Given the description of an element on the screen output the (x, y) to click on. 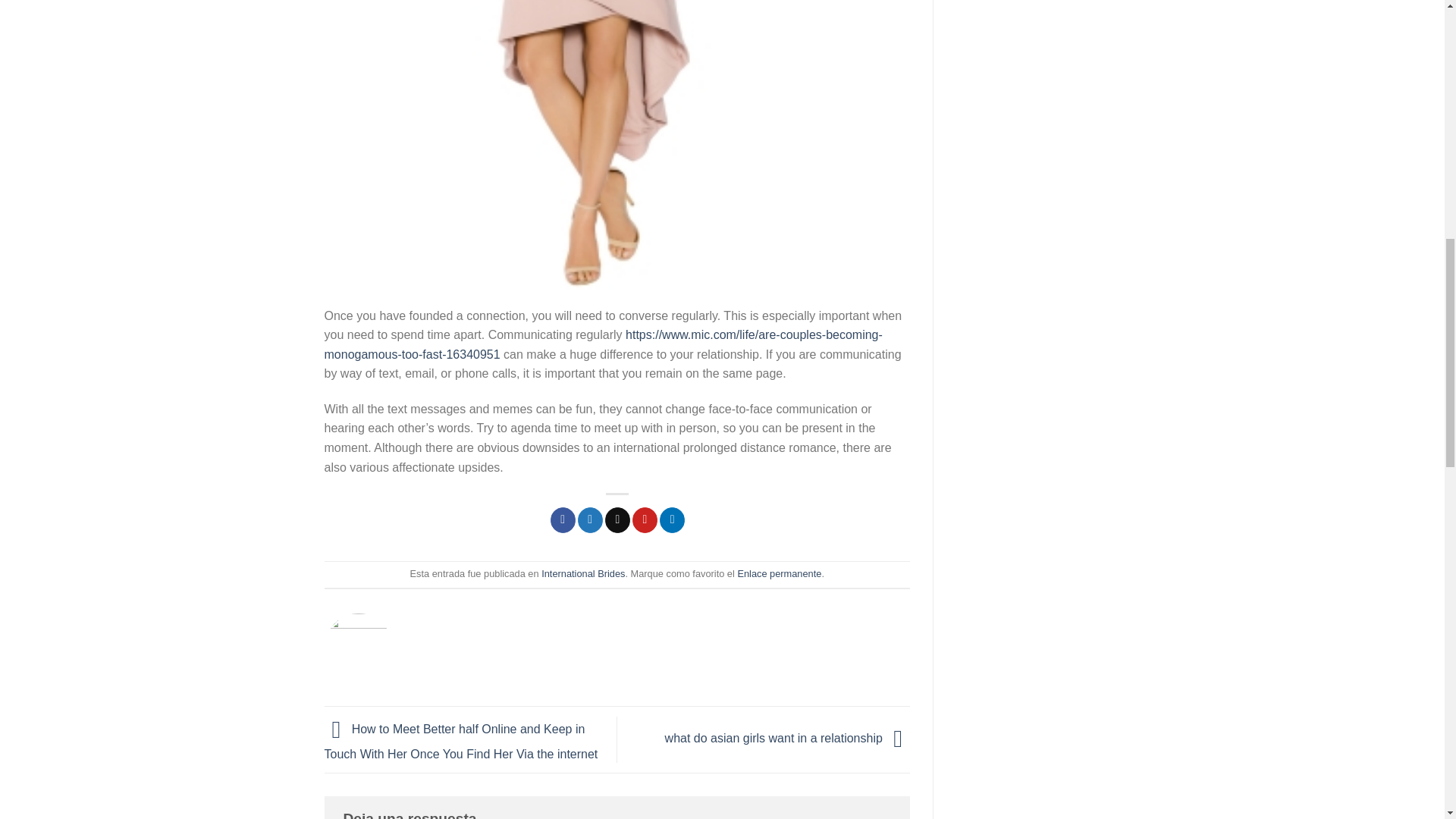
Pinear en Pinterest (644, 519)
International Brides (582, 573)
Compartir en Facebook (562, 519)
what do asian girls want in a relationship (787, 738)
Compartir en Twitter (590, 519)
Enlace permanente (778, 573)
Share on LinkedIn (671, 519)
